Given the description of an element on the screen output the (x, y) to click on. 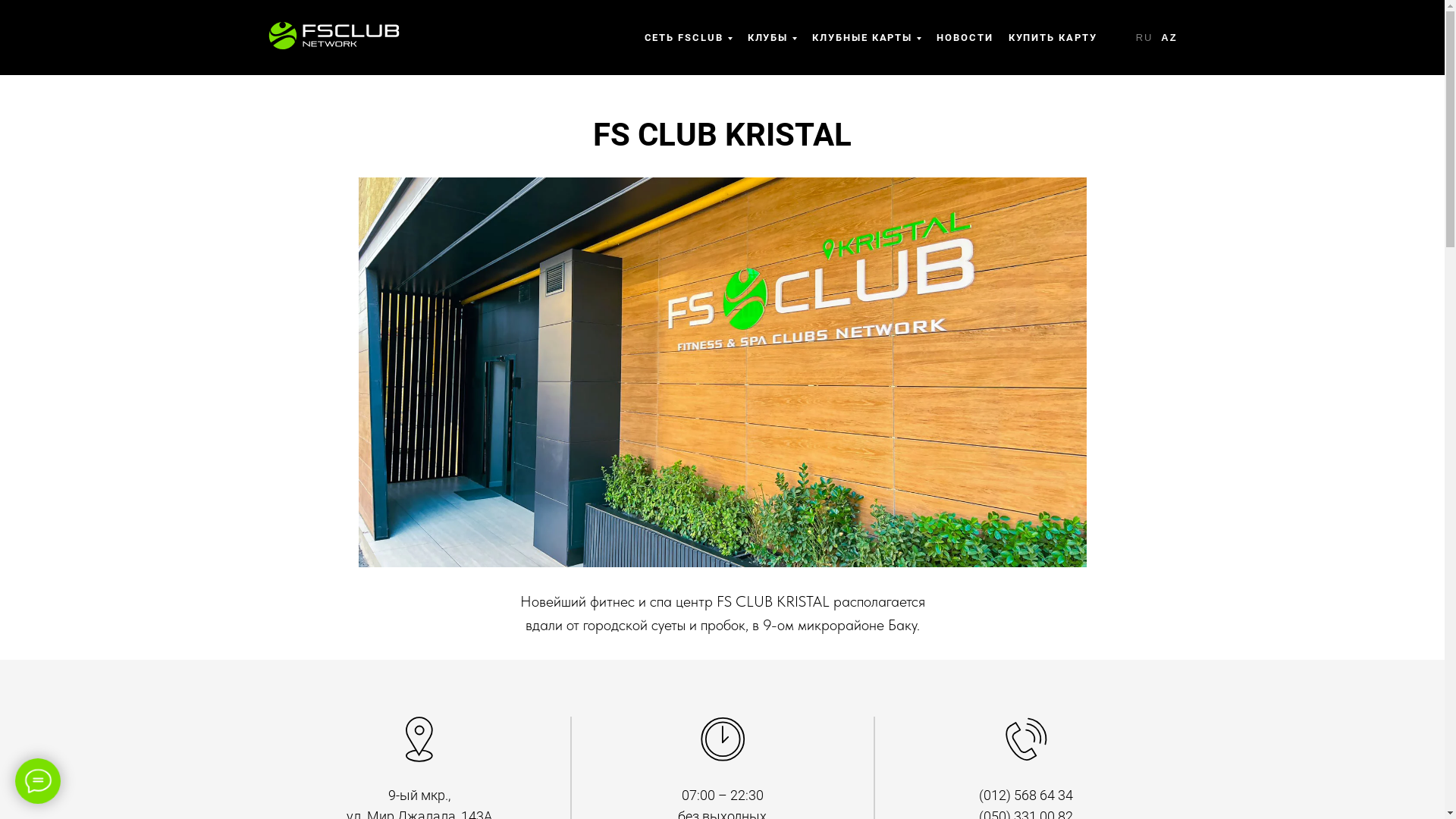
RU Element type: text (1144, 37)
AZ Element type: text (1168, 37)
